Given the description of an element on the screen output the (x, y) to click on. 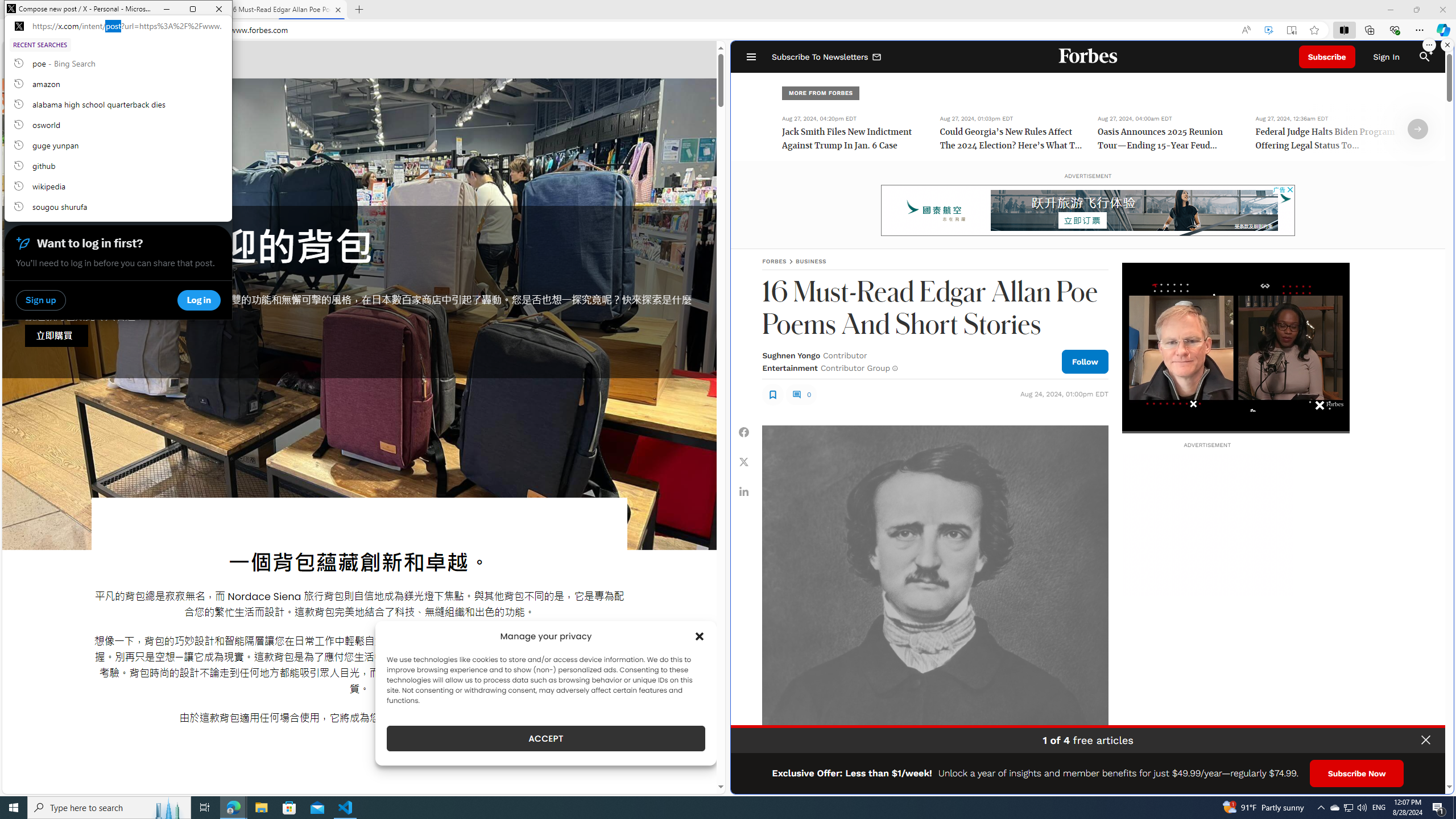
Jack Smith Files New Indictment Against Trump In Jan. 6 Case (853, 139)
Class: Bz112c Bz112c-r9oPif (202, 64)
Share Facebook (743, 431)
wikipedia, recent searches from history (117, 186)
Portrait of Edgar Allan Poe. (934, 598)
osworld, recent searches from history (117, 124)
User Promoted Notification Area (1347, 807)
BUSINESS (810, 261)
Class: sparkles_svg__fs-icon sparkles_svg__fs-icon--sparkles (1430, 51)
